Given the description of an element on the screen output the (x, y) to click on. 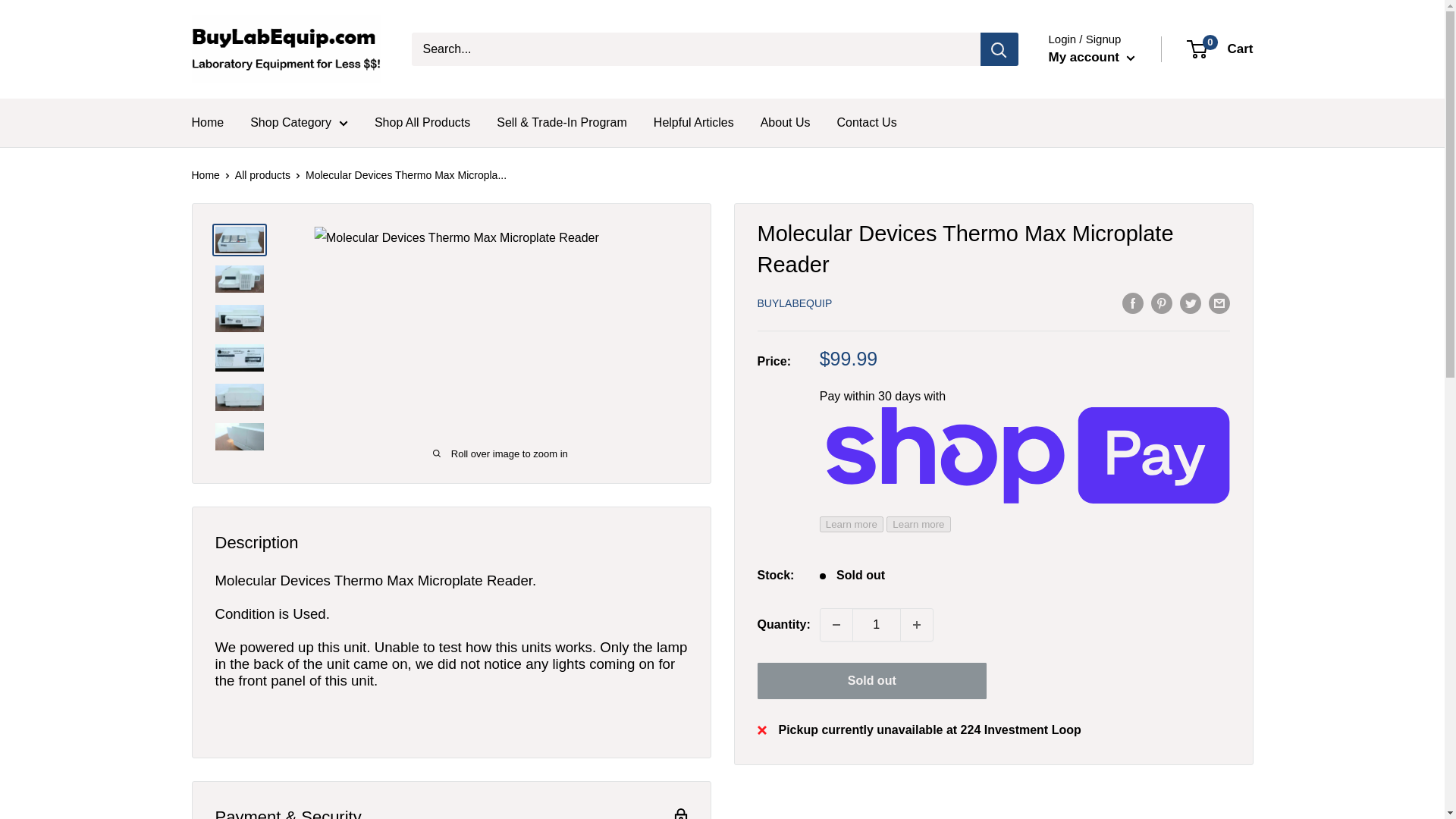
Increase quantity by 1 (917, 624)
Decrease quantity by 1 (836, 624)
1 (876, 624)
